Given the description of an element on the screen output the (x, y) to click on. 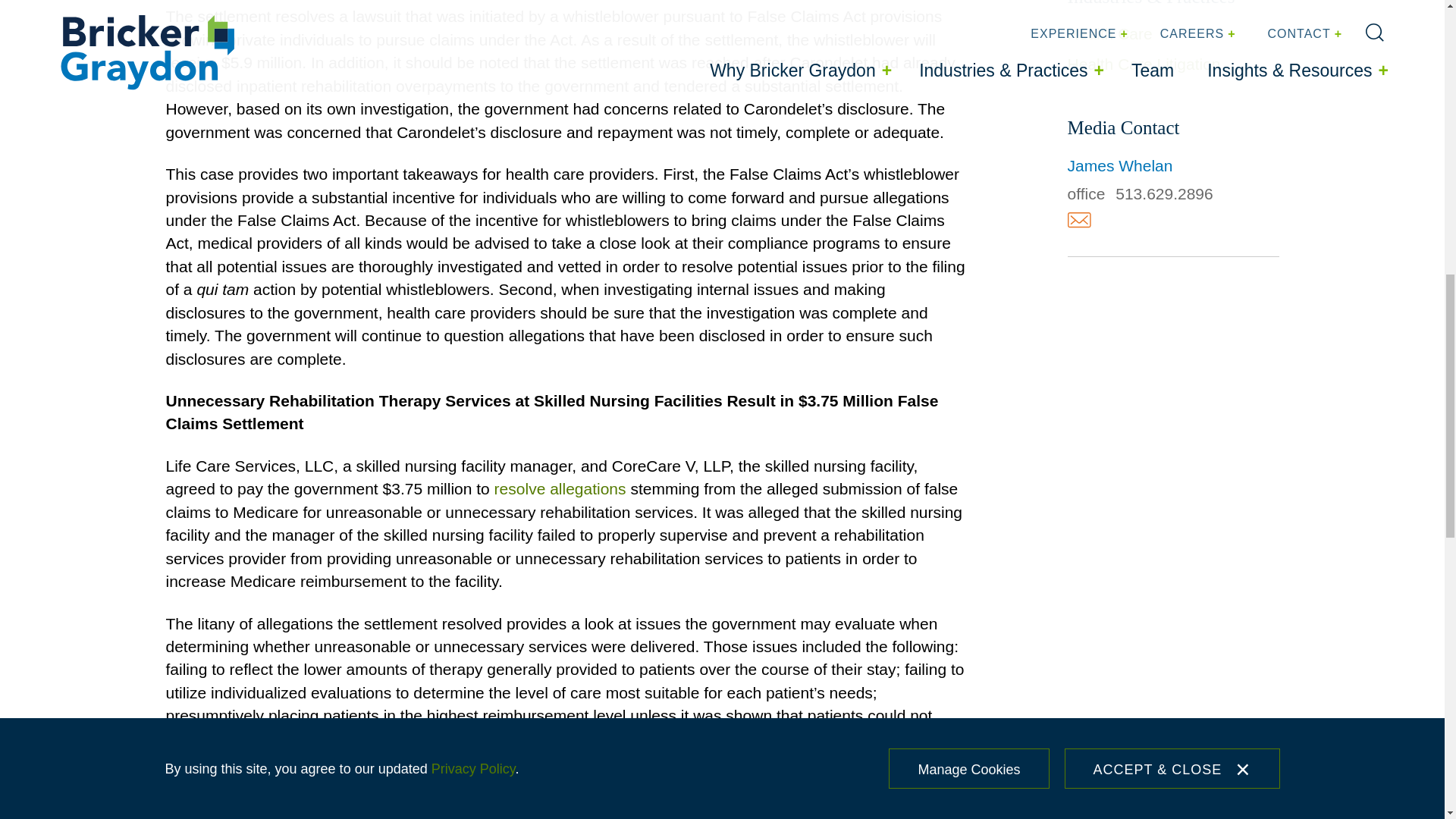
Email (1078, 220)
